Given the description of an element on the screen output the (x, y) to click on. 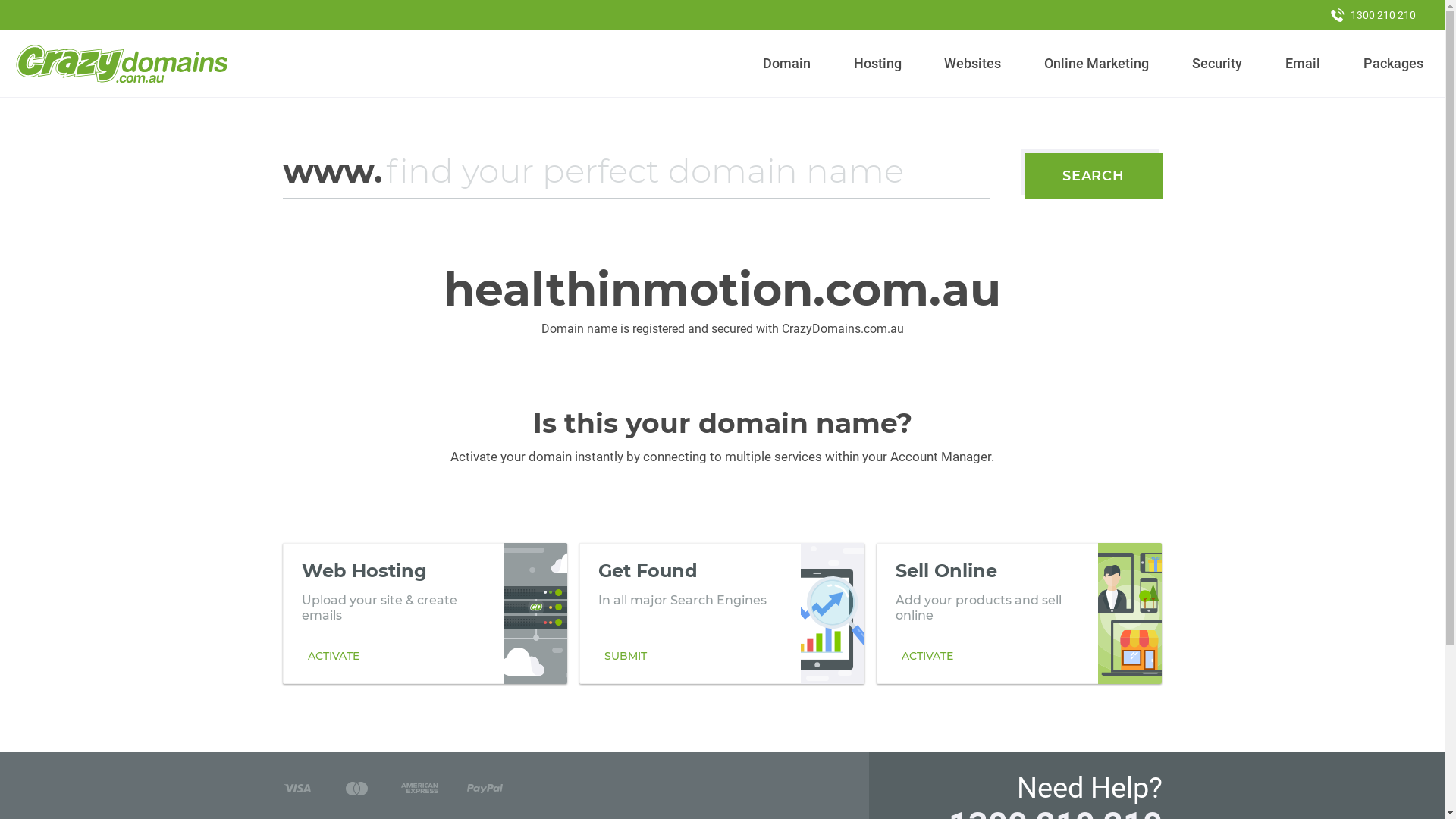
SEARCH Element type: text (1092, 175)
Security Element type: text (1217, 63)
Sell Online
Add your products and sell online
ACTIVATE Element type: text (1018, 613)
Packages Element type: text (1392, 63)
Domain Element type: text (786, 63)
Web Hosting
Upload your site & create emails
ACTIVATE Element type: text (424, 613)
Email Element type: text (1302, 63)
Get Found
In all major Search Engines
SUBMIT Element type: text (721, 613)
Online Marketing Element type: text (1096, 63)
1300 210 210 Element type: text (1373, 15)
Websites Element type: text (972, 63)
Hosting Element type: text (877, 63)
